Given the description of an element on the screen output the (x, y) to click on. 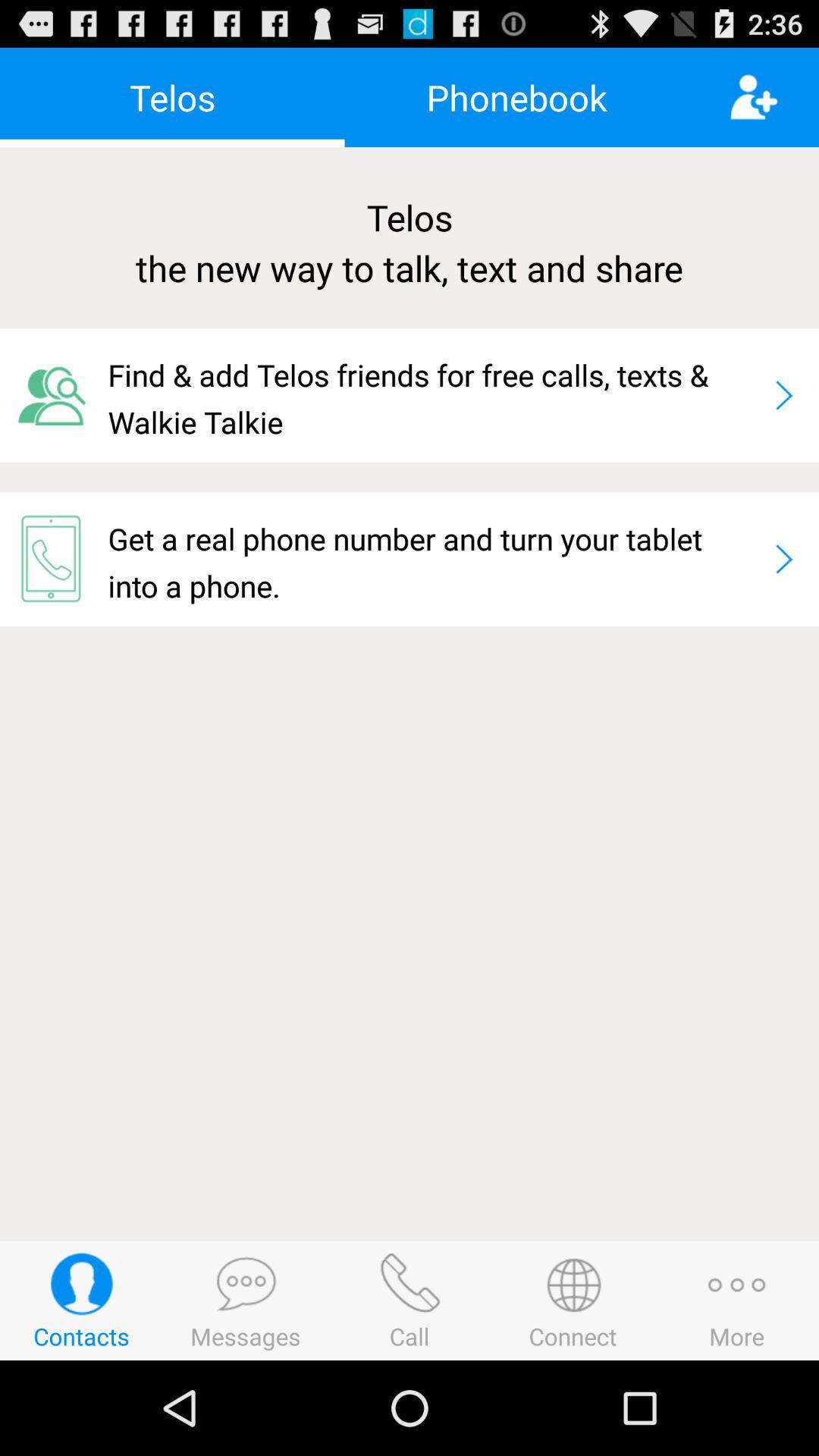
launch the icon above telos the new app (516, 97)
